Given the description of an element on the screen output the (x, y) to click on. 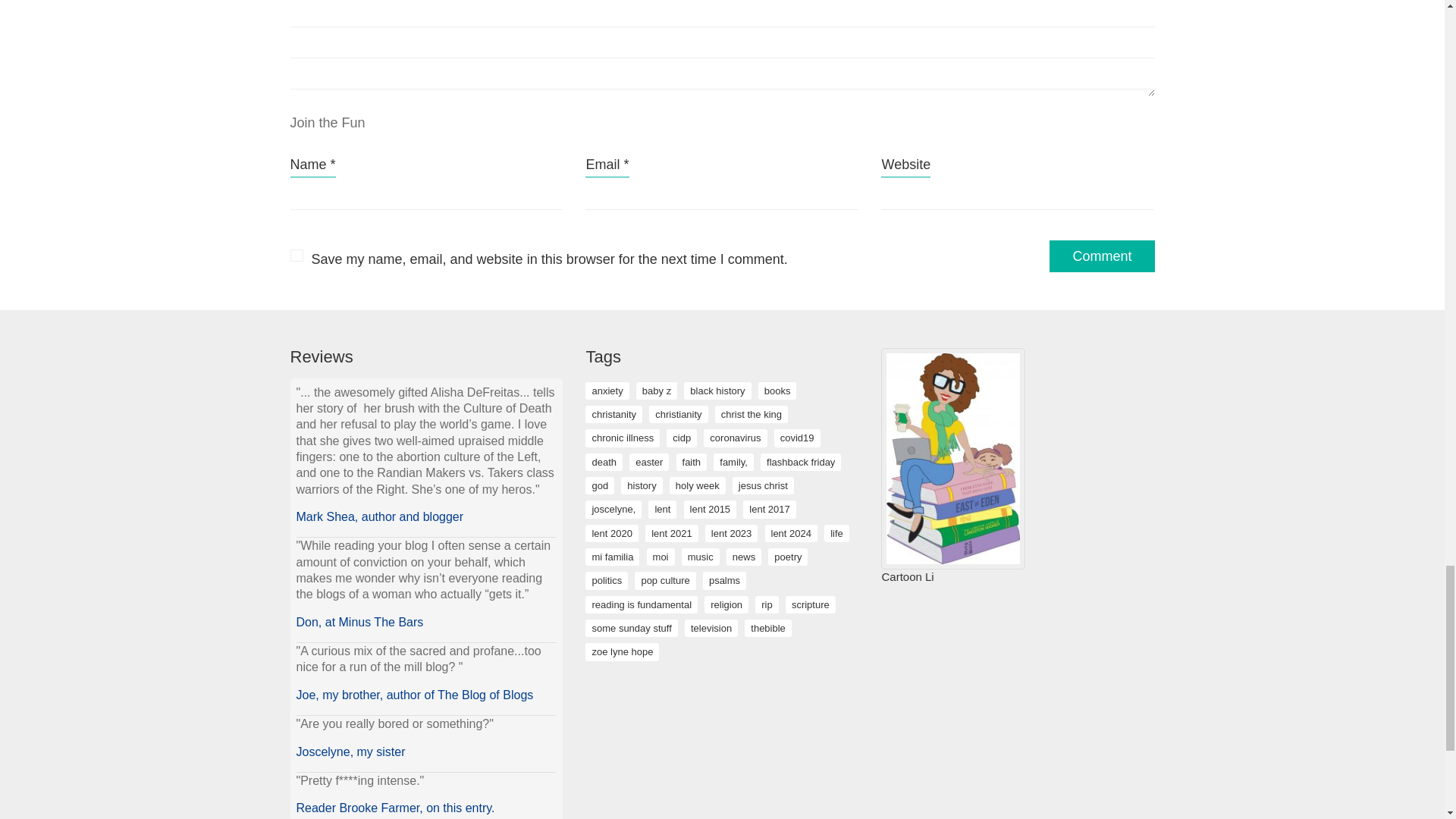
Comment (1101, 255)
yes (295, 255)
